Given the description of an element on the screen output the (x, y) to click on. 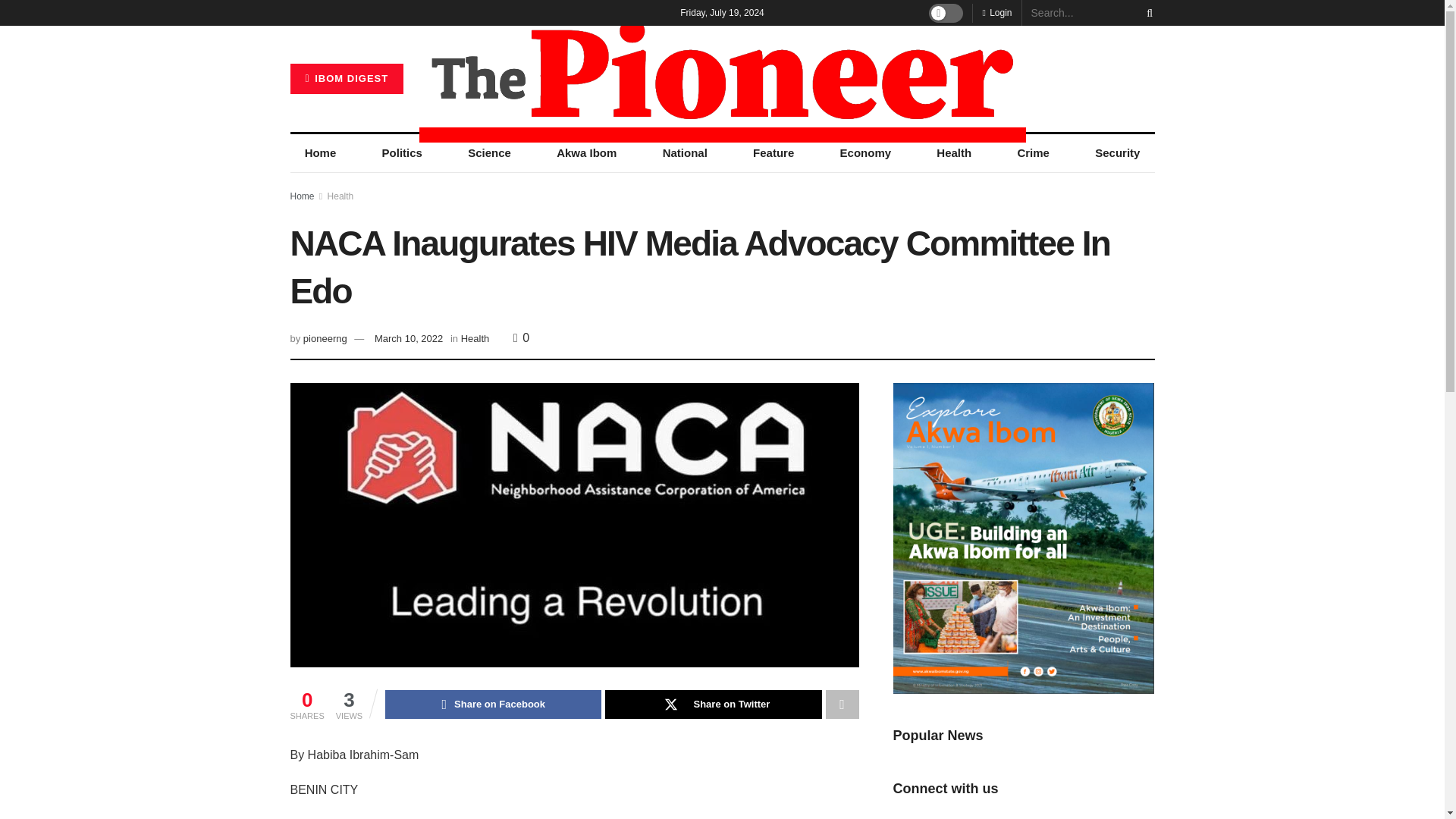
Crime (1033, 152)
March 10, 2022 (408, 337)
pioneerng (324, 337)
Health (475, 337)
Health (953, 152)
Share on Twitter (713, 704)
Science (488, 152)
0 (521, 337)
Politics (401, 152)
Home (301, 195)
National (684, 152)
Health (340, 195)
Login (996, 12)
Feature (773, 152)
Akwa Ibom (585, 152)
